Given the description of an element on the screen output the (x, y) to click on. 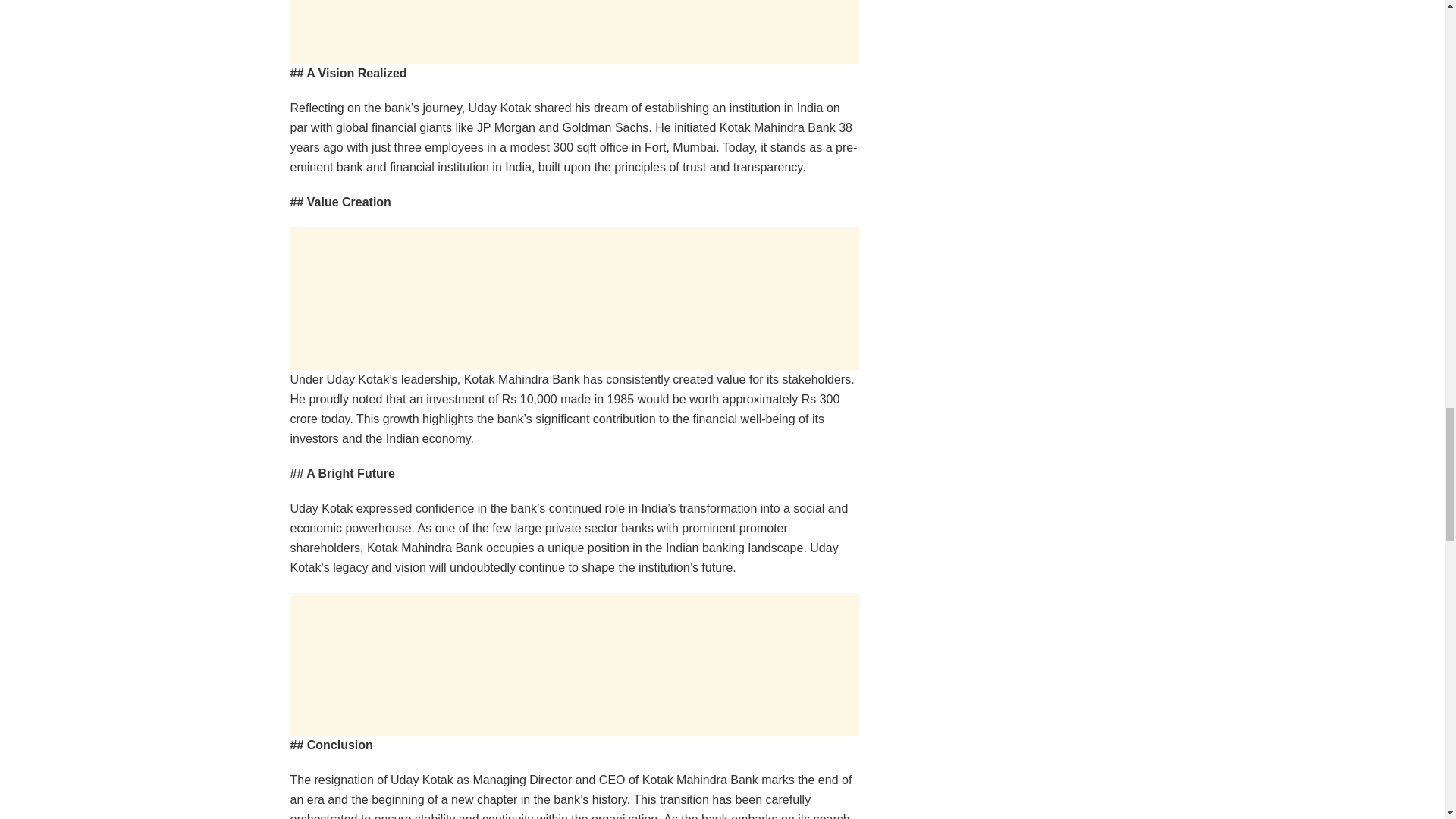
Advertisement (574, 298)
Advertisement (574, 663)
Advertisement (574, 31)
